Given the description of an element on the screen output the (x, y) to click on. 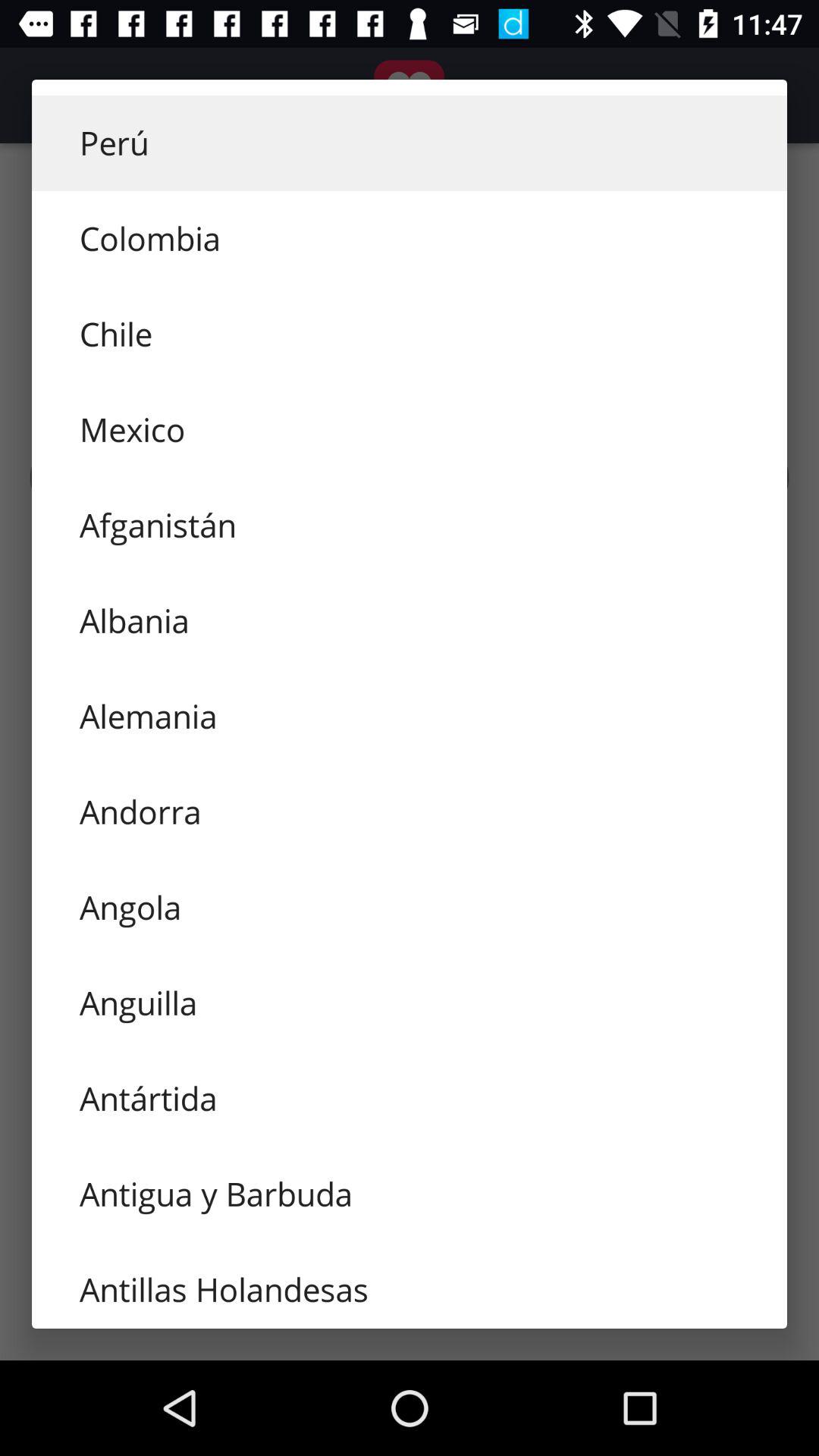
choose item below mexico item (409, 525)
